Given the description of an element on the screen output the (x, y) to click on. 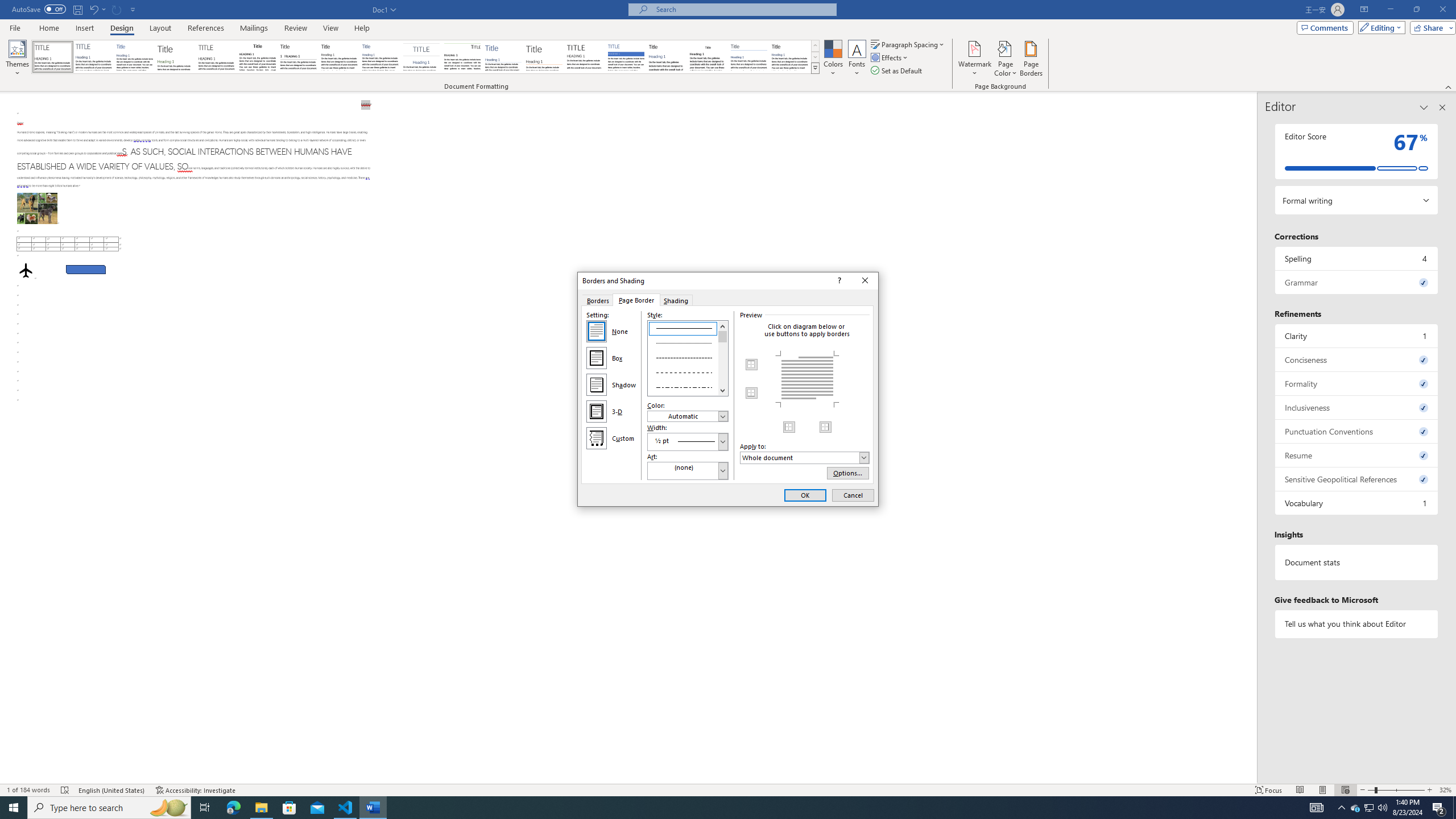
Running applications (717, 807)
Language English (United States) (111, 790)
Basic (Simple) (135, 56)
Editor Score 67% (1356, 151)
Page Color (1005, 58)
Set as Default (897, 69)
Spelling and Grammar Check Errors (65, 790)
Accessibility Checker Accessibility: Investigate (195, 790)
Custom (596, 438)
Dotted (687, 341)
Notification Chevron (1341, 807)
